Given the description of an element on the screen output the (x, y) to click on. 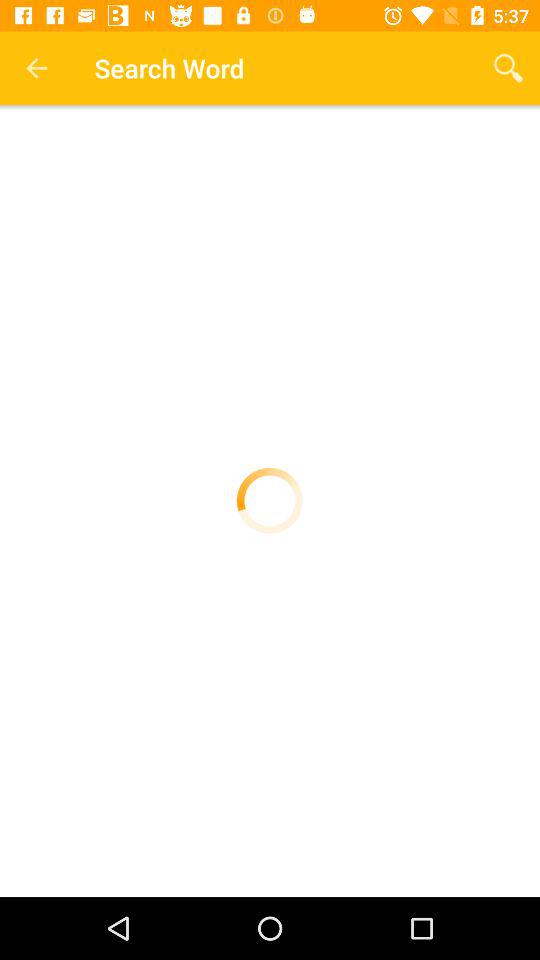
select item next to the search word (36, 68)
